Given the description of an element on the screen output the (x, y) to click on. 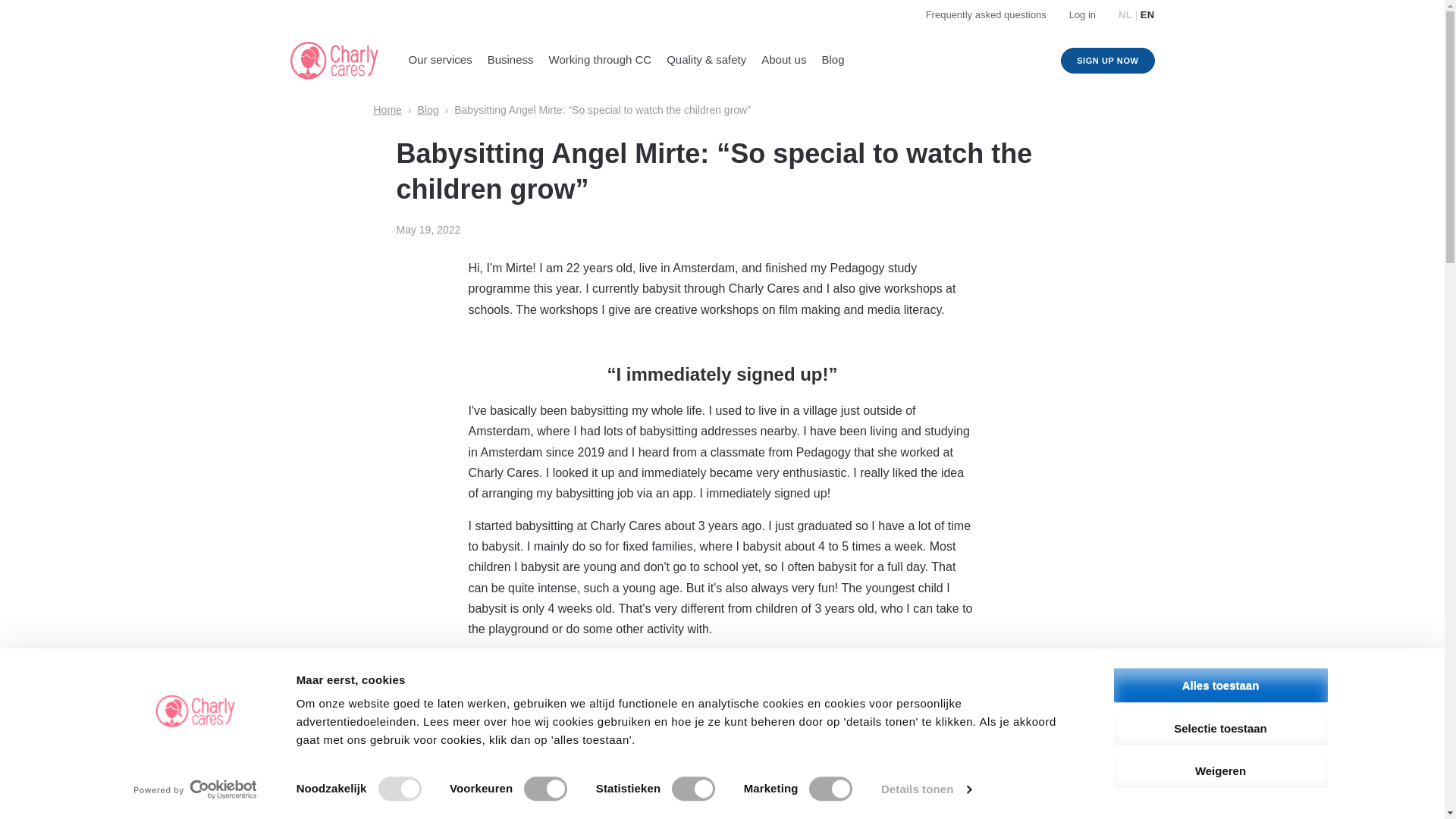
Details tonen (925, 789)
Frequently asked questions (986, 14)
Log in (1082, 14)
